Given the description of an element on the screen output the (x, y) to click on. 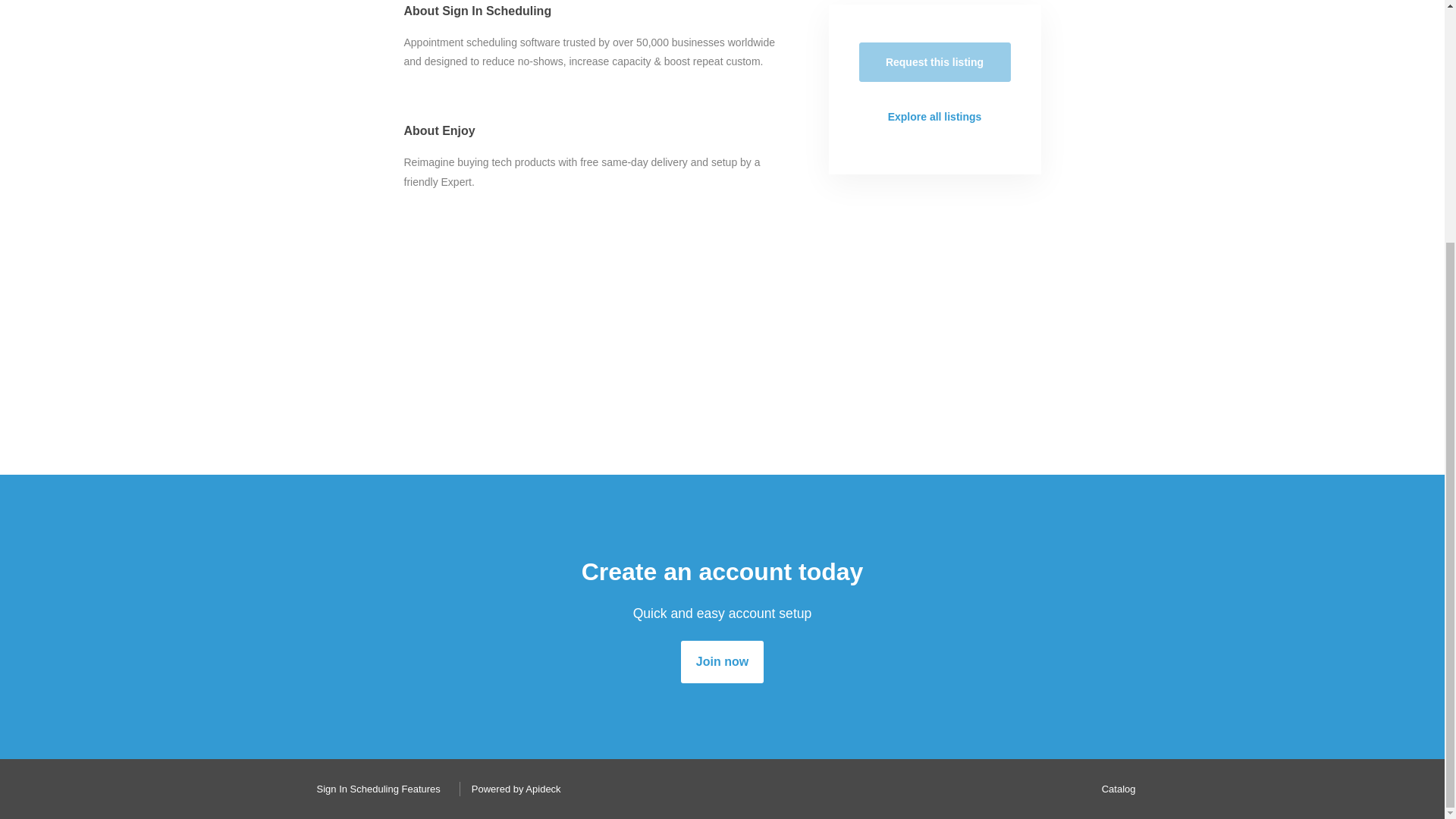
Powered by Apideck (512, 789)
Join now (721, 661)
Sign In Scheduling Features (374, 789)
Catalog (1115, 789)
Request this listing (934, 61)
Explore all listings (934, 116)
